Given the description of an element on the screen output the (x, y) to click on. 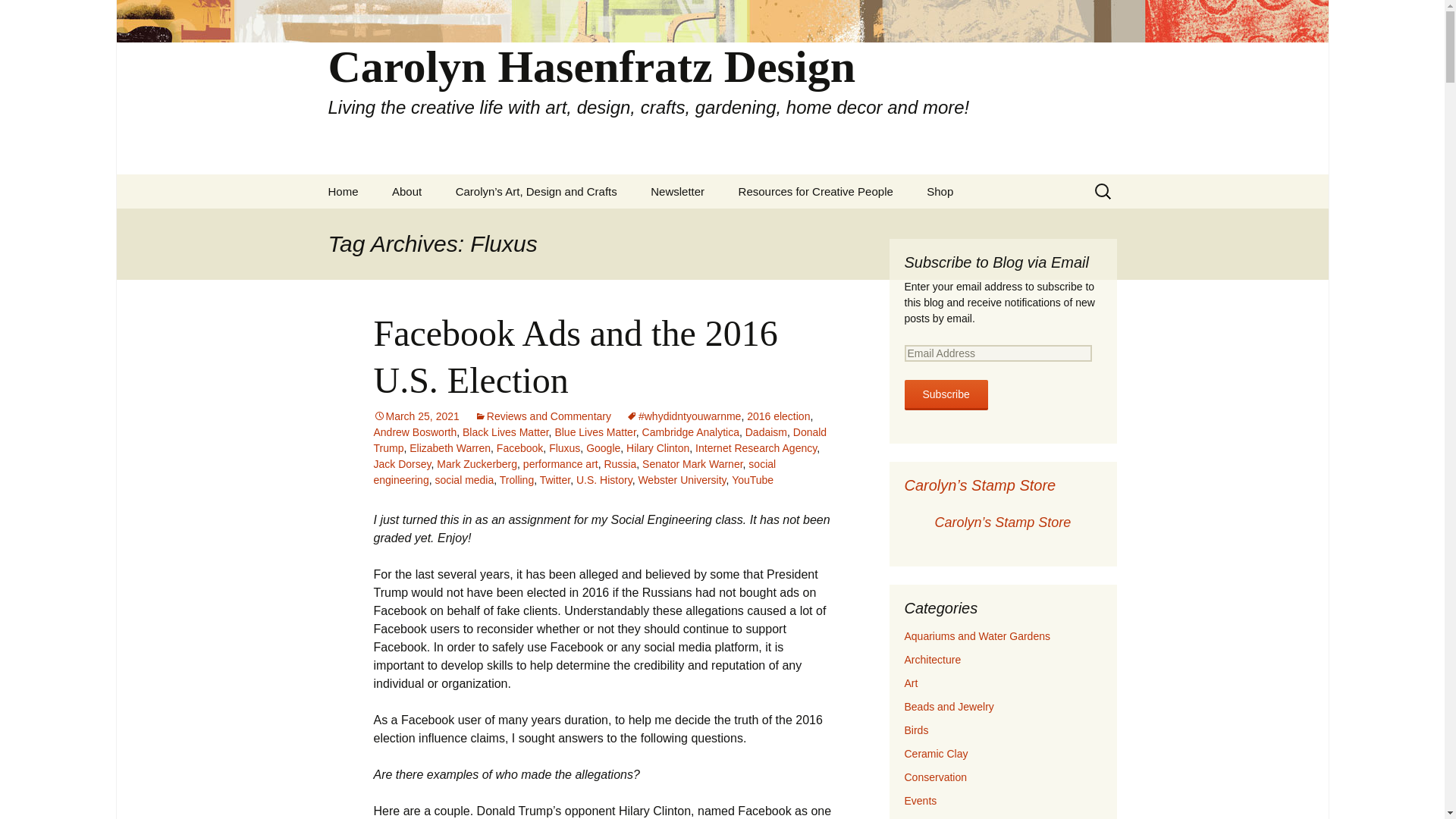
Facebook Ads and the 2016 U.S. Election (574, 356)
Crafts by Carolyn (516, 225)
Permalink to Facebook Ads and the 2016 U.S. Election (415, 416)
Search (18, 15)
Subscribe (945, 395)
Shop (939, 191)
Home (342, 191)
Reviews and Commentary (542, 416)
Contact Information (452, 225)
Newsletter (676, 191)
About (406, 191)
Resources for Creative People (815, 191)
